Given the description of an element on the screen output the (x, y) to click on. 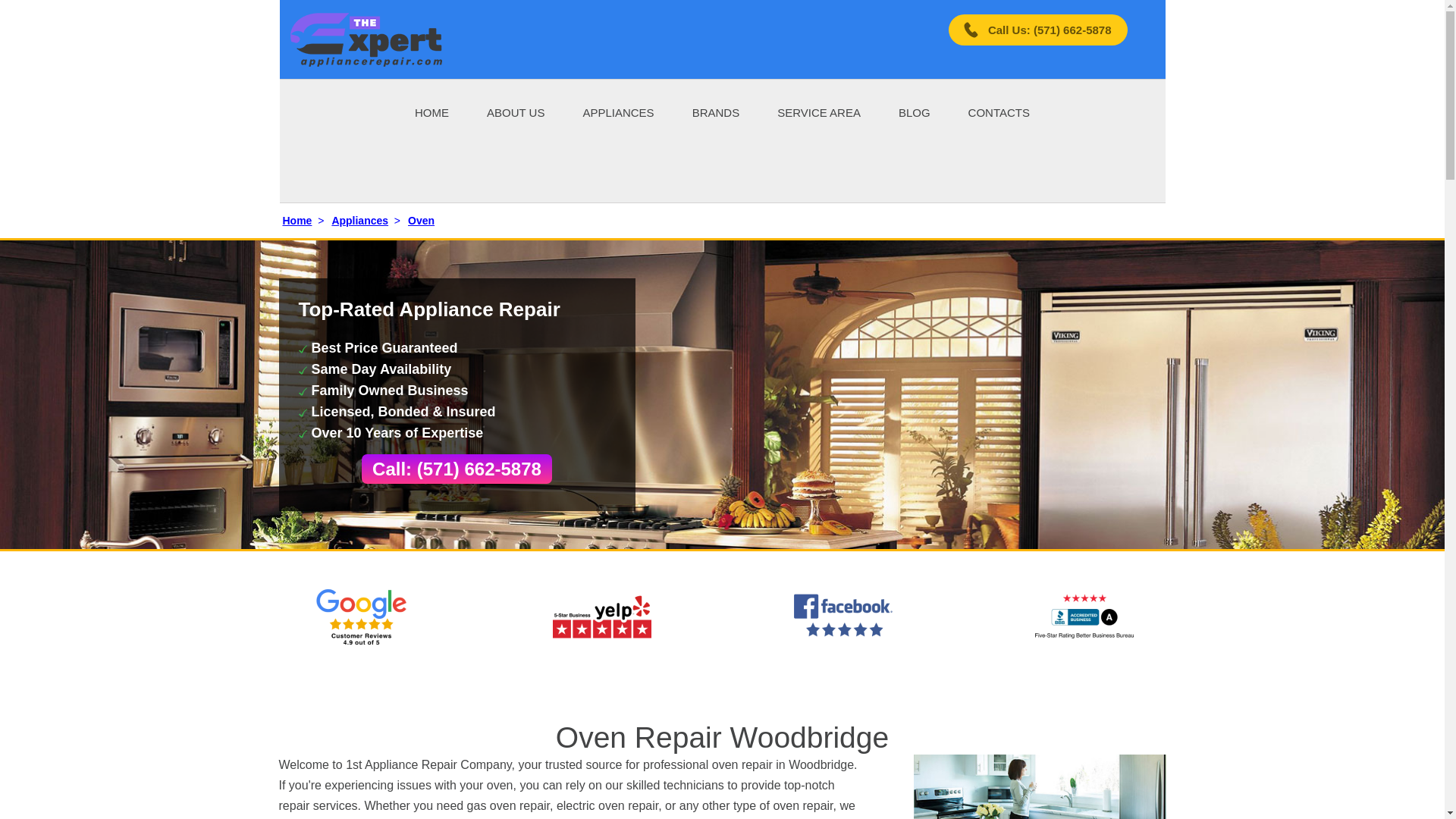
ABOUT US (515, 111)
APPLIANCES (617, 111)
HOME (431, 111)
BRANDS (715, 111)
